Given the description of an element on the screen output the (x, y) to click on. 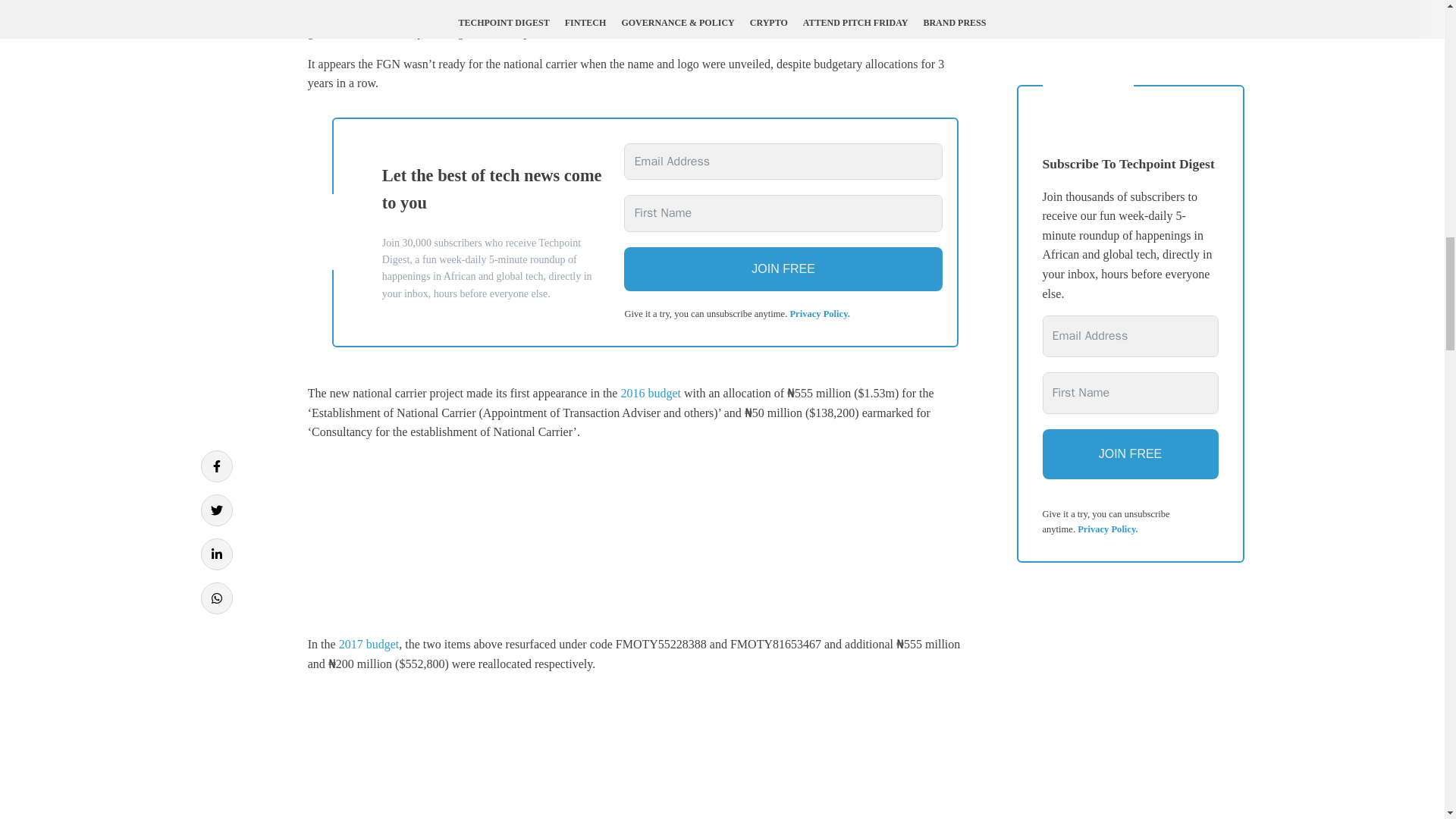
2017 budget (368, 644)
JOIN FREE (783, 269)
Privacy Policy. (818, 313)
2016 budget (650, 392)
